Given the description of an element on the screen output the (x, y) to click on. 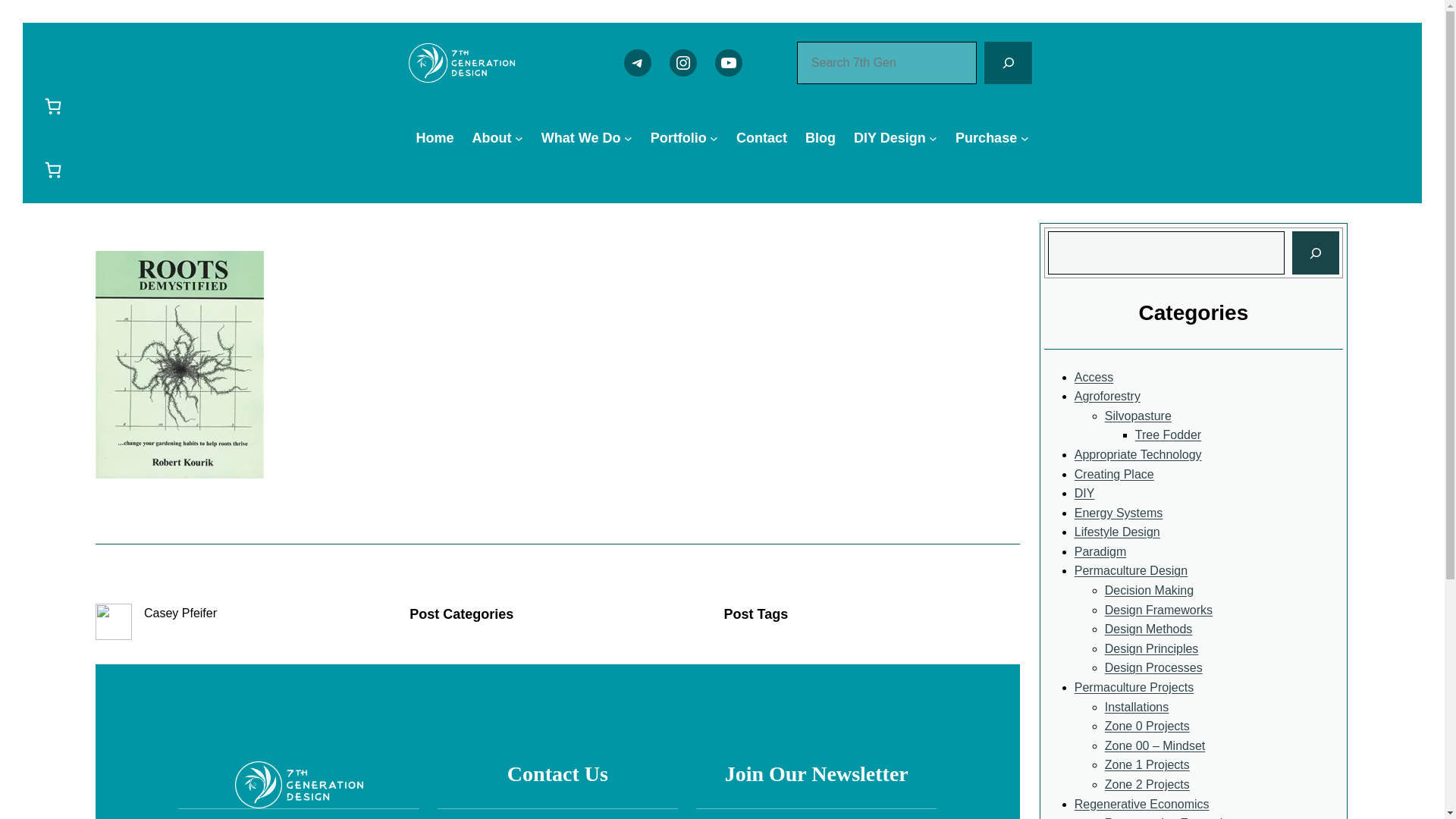
Home (435, 137)
7th Generation Design Telegram Channel (637, 62)
YouTube (728, 62)
Instagram (683, 62)
About (491, 137)
What We Do (581, 137)
